Given the description of an element on the screen output the (x, y) to click on. 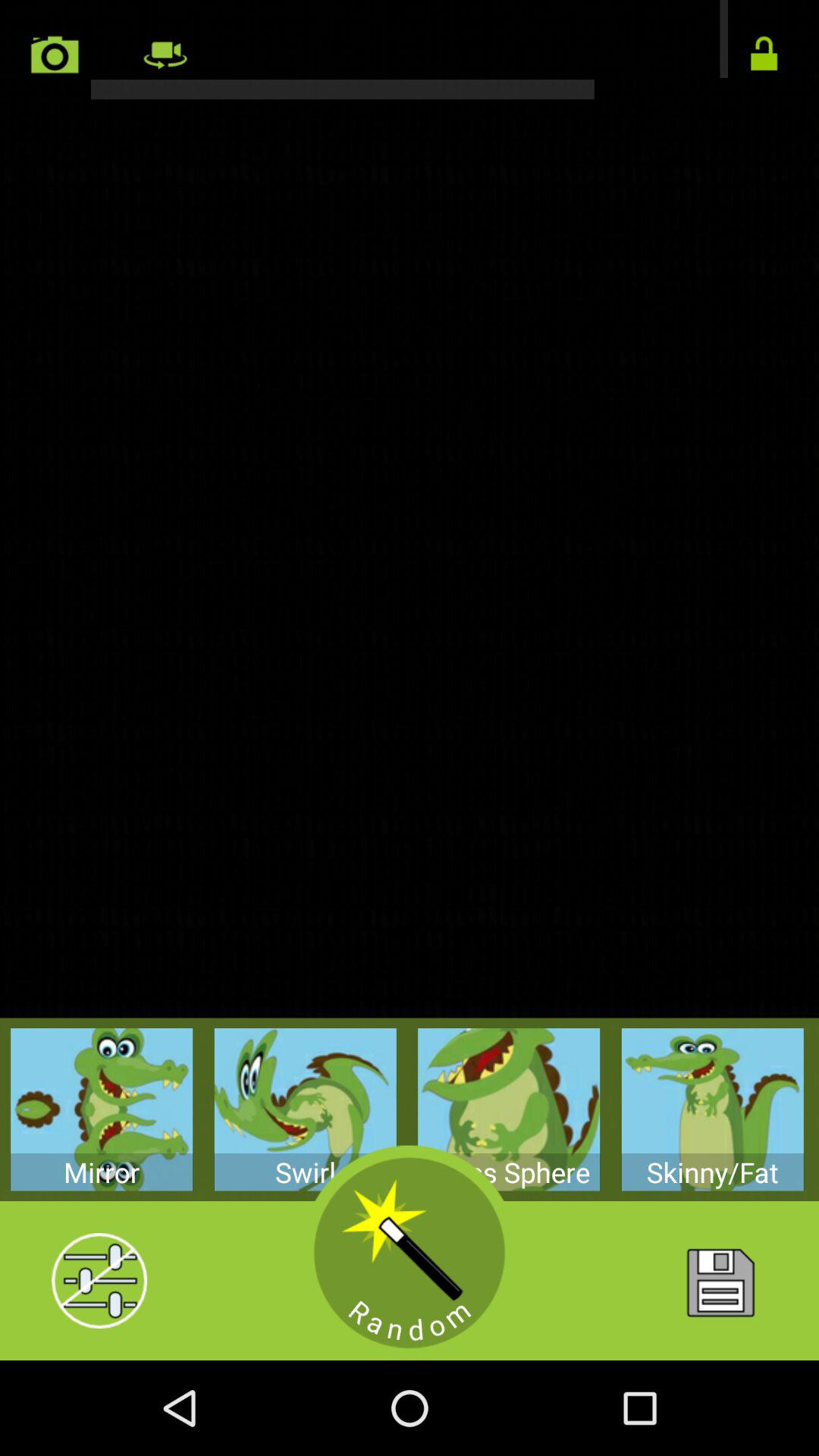
rotate camera (409, 49)
